Given the description of an element on the screen output the (x, y) to click on. 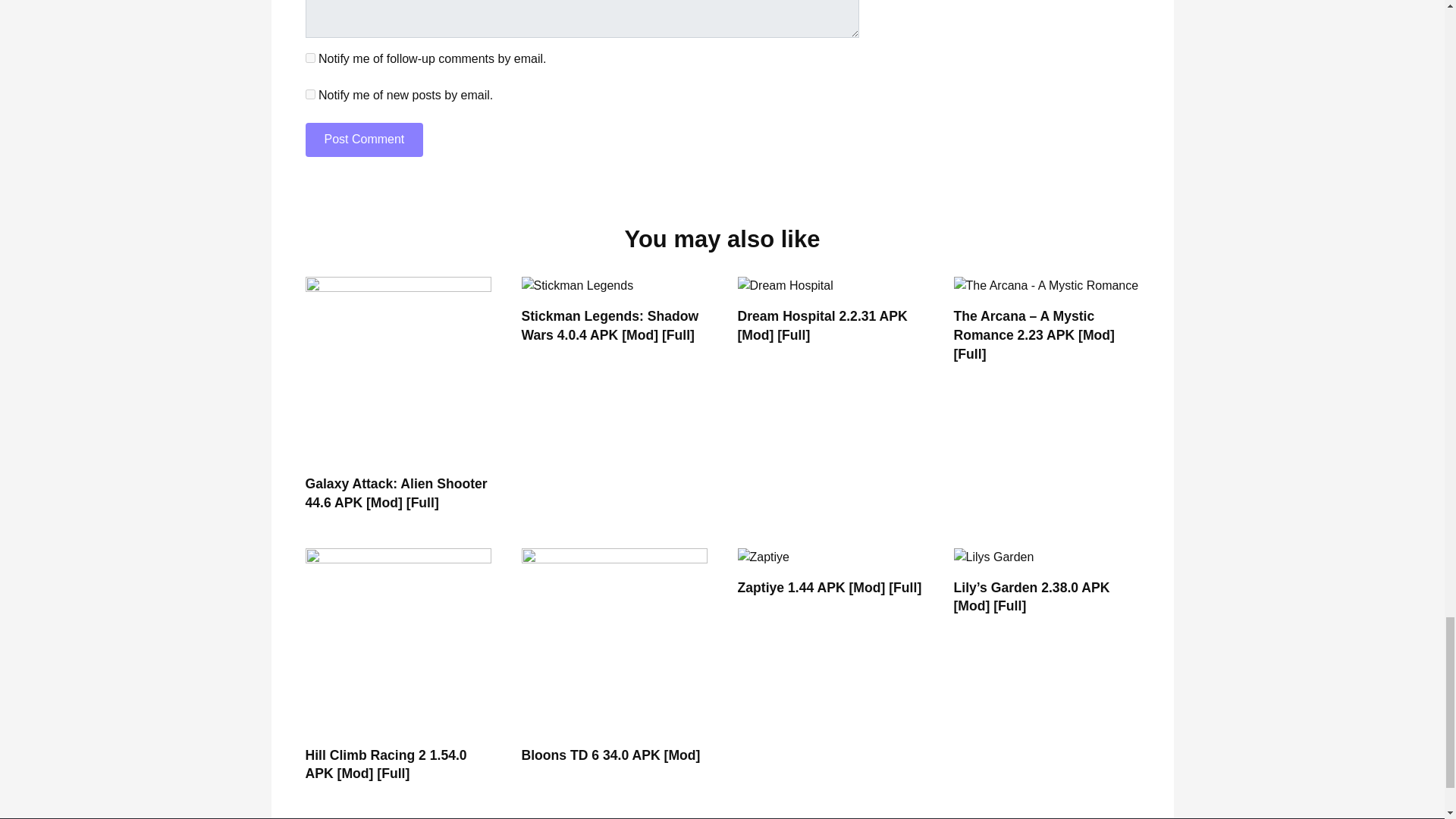
Post Comment (363, 139)
subscribe (309, 58)
subscribe (309, 94)
